Given the description of an element on the screen output the (x, y) to click on. 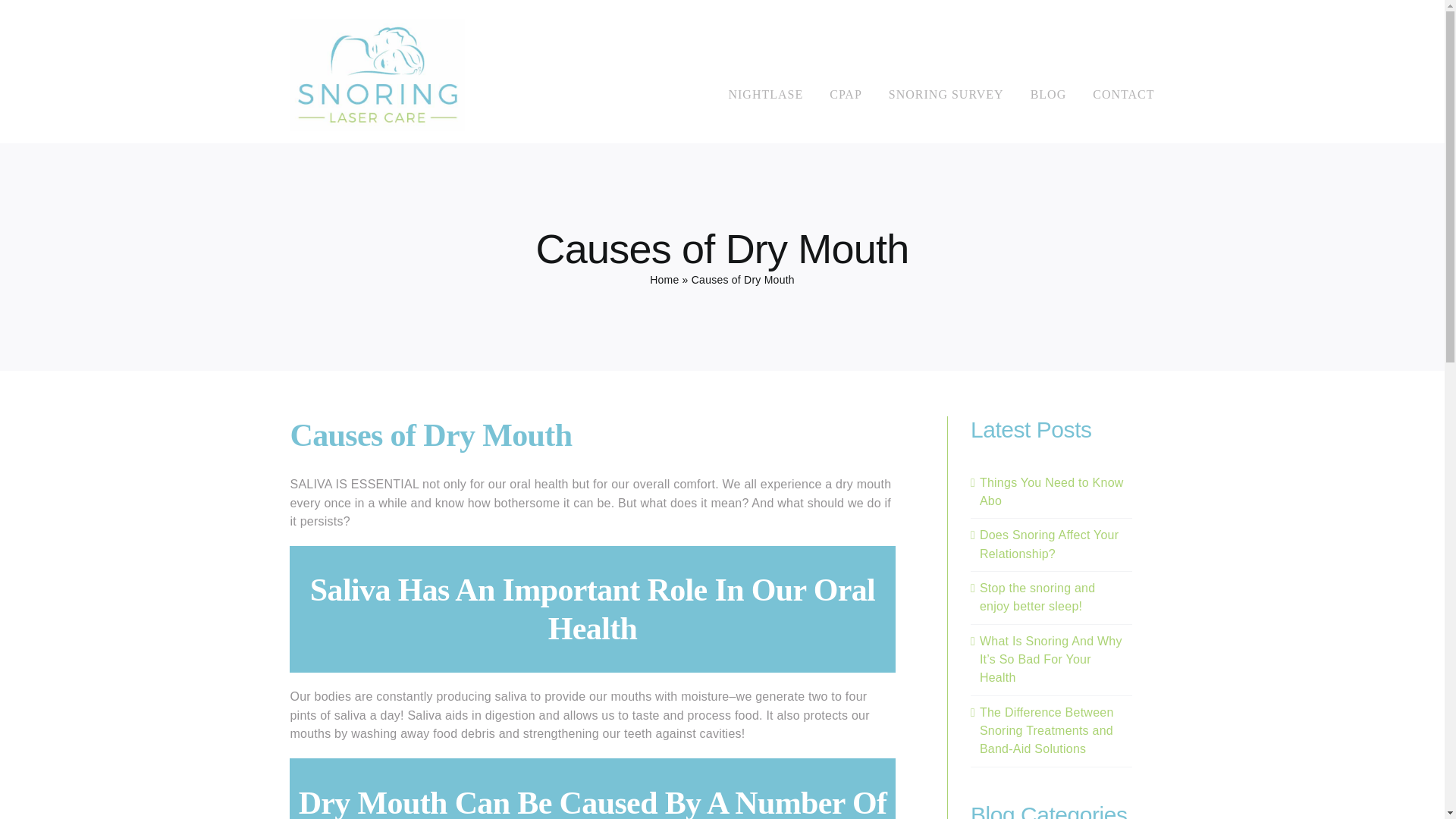
BLOG (1048, 94)
Home (663, 279)
NIGHTLASE (765, 94)
Does Snoring Affect Your Relationship? (1048, 543)
Stop the snoring and enjoy better sleep! (1036, 596)
SNORING SURVEY (946, 94)
CONTACT (1123, 94)
Things You Need to Know Abo (1051, 490)
